Given the description of an element on the screen output the (x, y) to click on. 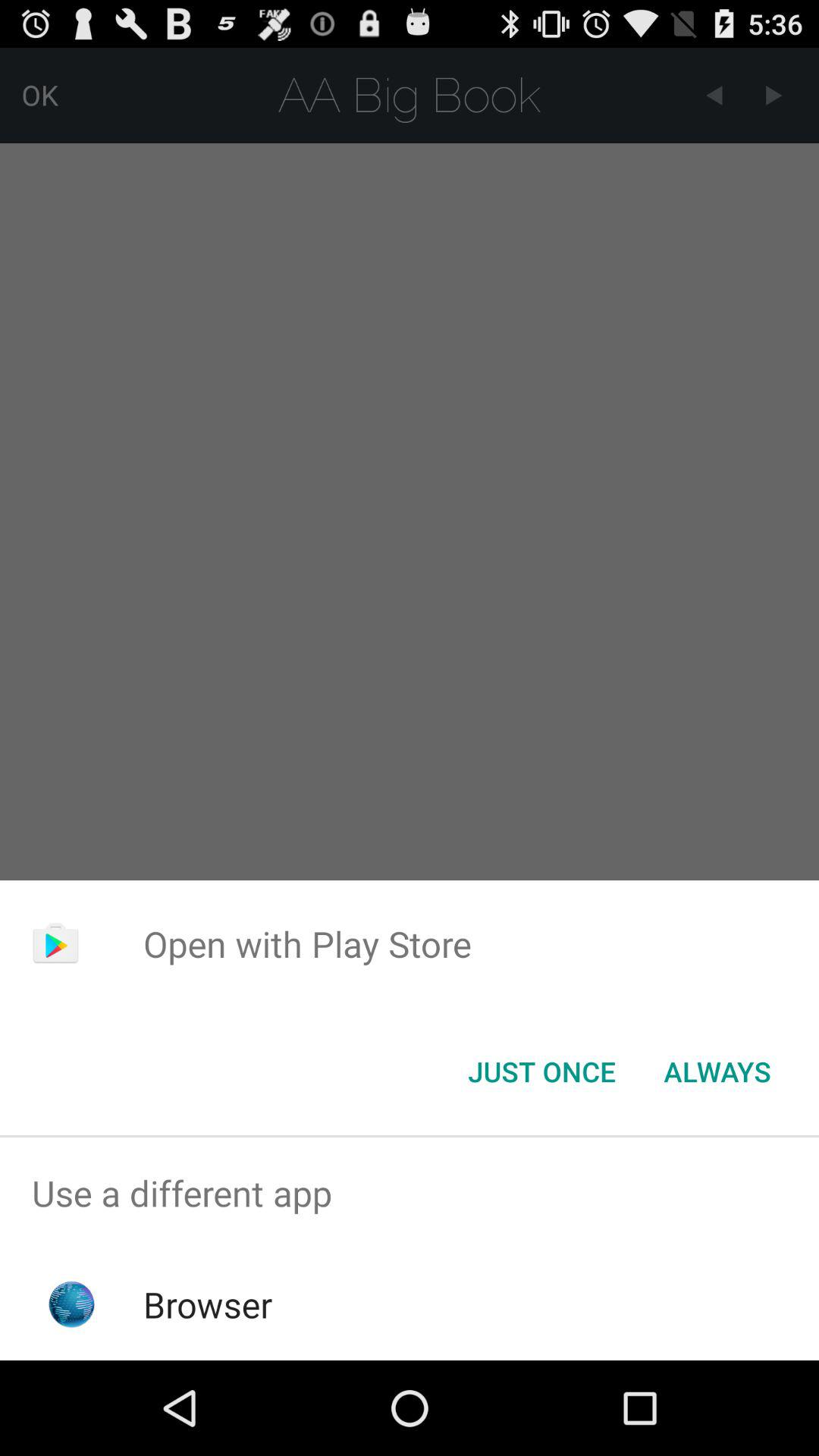
turn off the browser (207, 1304)
